Given the description of an element on the screen output the (x, y) to click on. 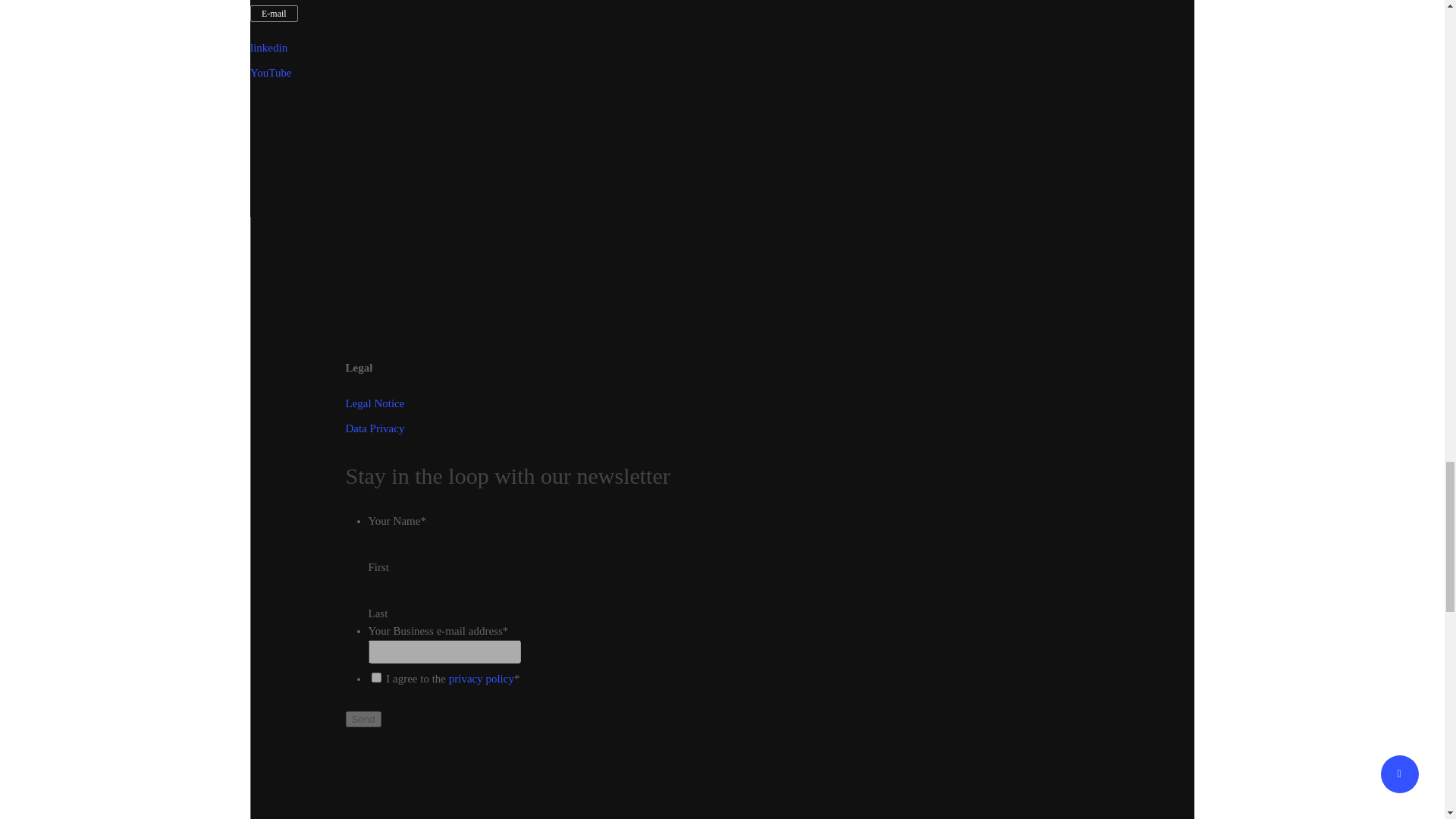
Send (363, 719)
linkedin (268, 47)
Legal Notice (375, 403)
1 (376, 677)
E-mail (274, 13)
Data Privacy (375, 428)
Send (363, 719)
privacy policy (480, 678)
YouTube (271, 72)
